Given the description of an element on the screen output the (x, y) to click on. 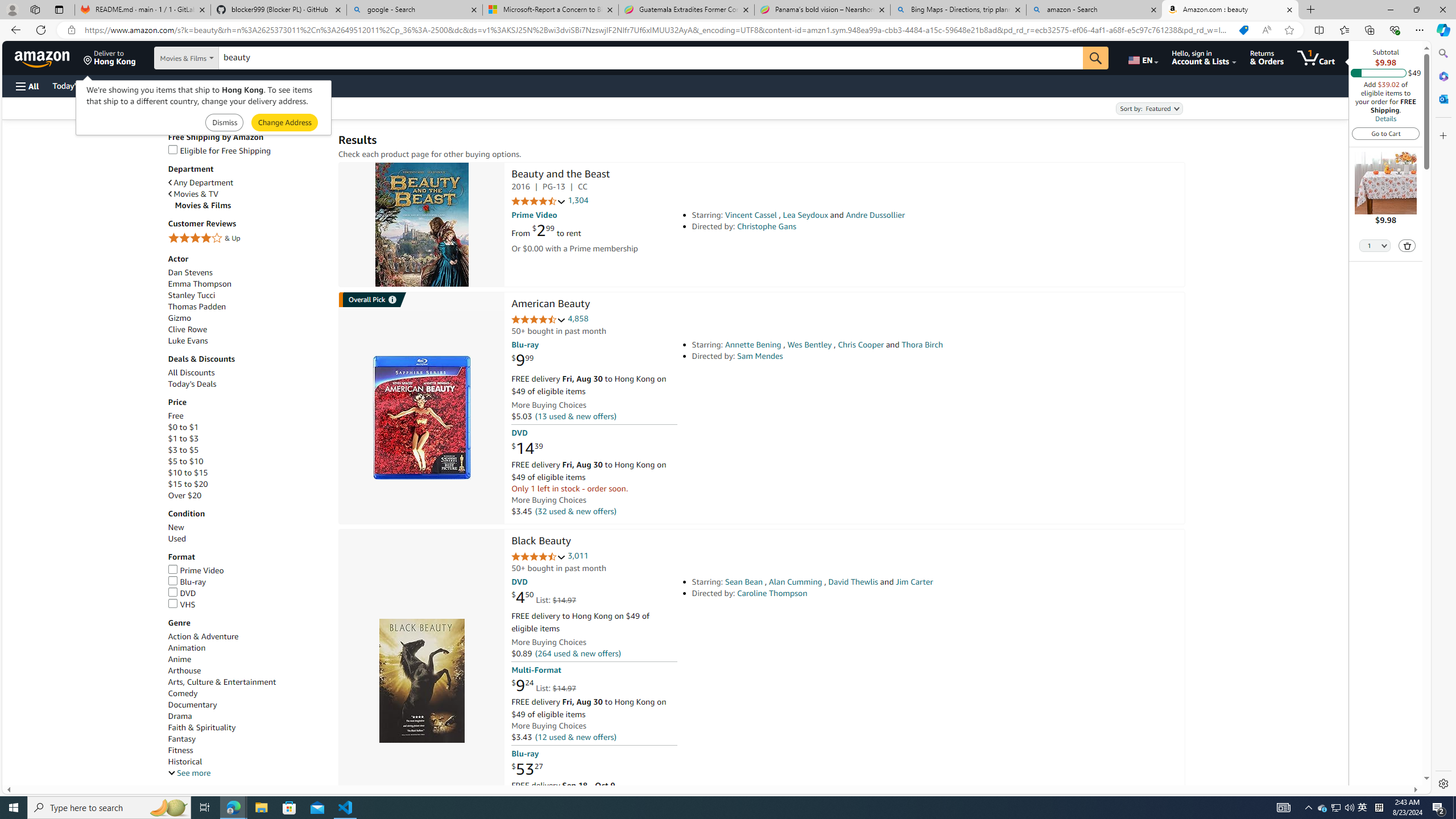
(32 used & new offers) (574, 511)
Lea Seydoux (805, 214)
Over $20 (184, 495)
google - Search (414, 9)
4 Stars & Up (247, 238)
Dan Stevens (247, 272)
Comedy (247, 693)
Thomas Padden (196, 306)
Dan Stevens (189, 272)
VHS (181, 604)
Arthouse (183, 670)
